Given the description of an element on the screen output the (x, y) to click on. 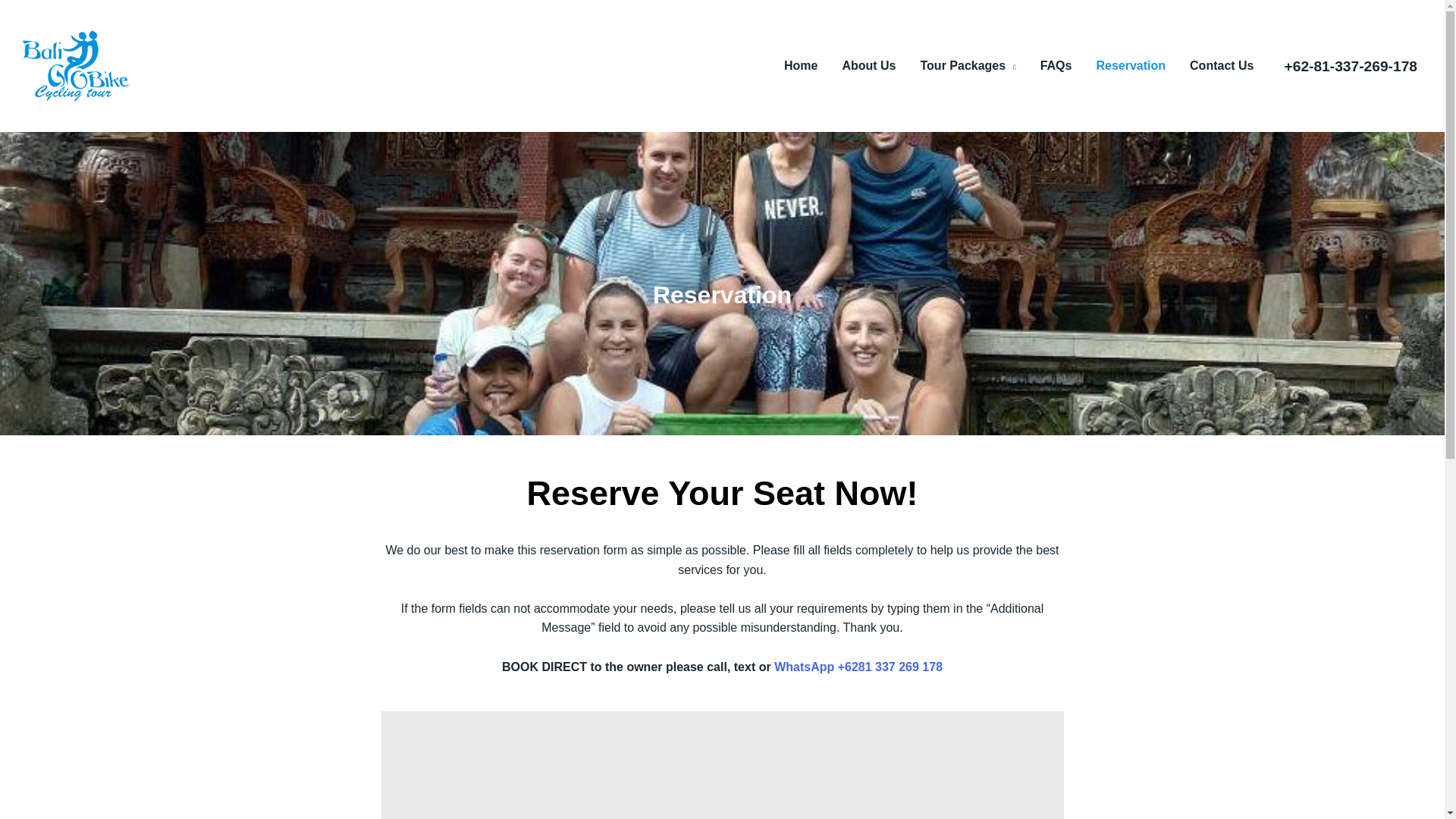
Contact Us (1221, 65)
Home (800, 65)
Tour Packages (967, 65)
Reservation (1130, 65)
About Us (868, 65)
FAQs (1055, 65)
